Given the description of an element on the screen output the (x, y) to click on. 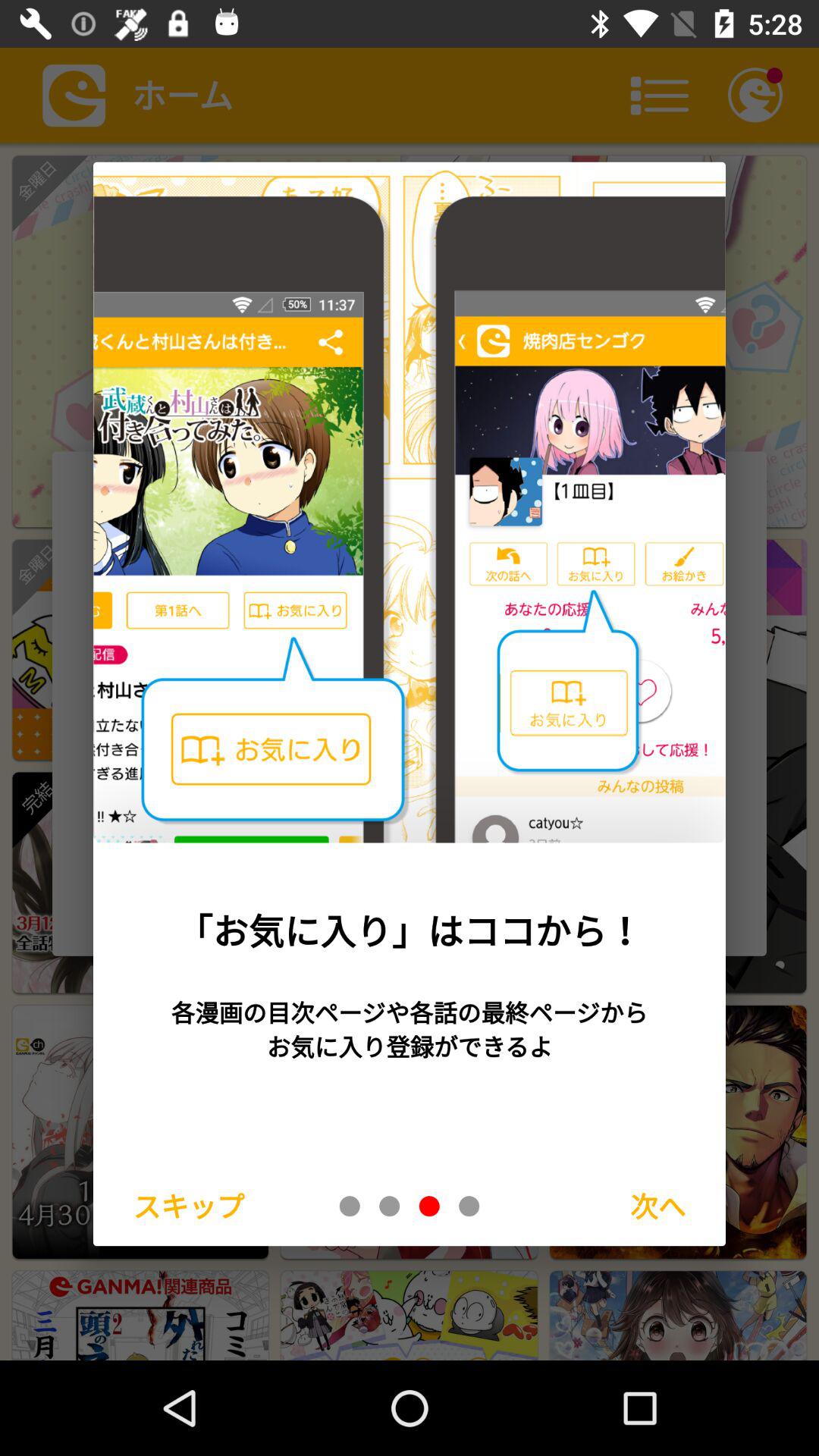
toggle between the four pages (429, 1206)
